Given the description of an element on the screen output the (x, y) to click on. 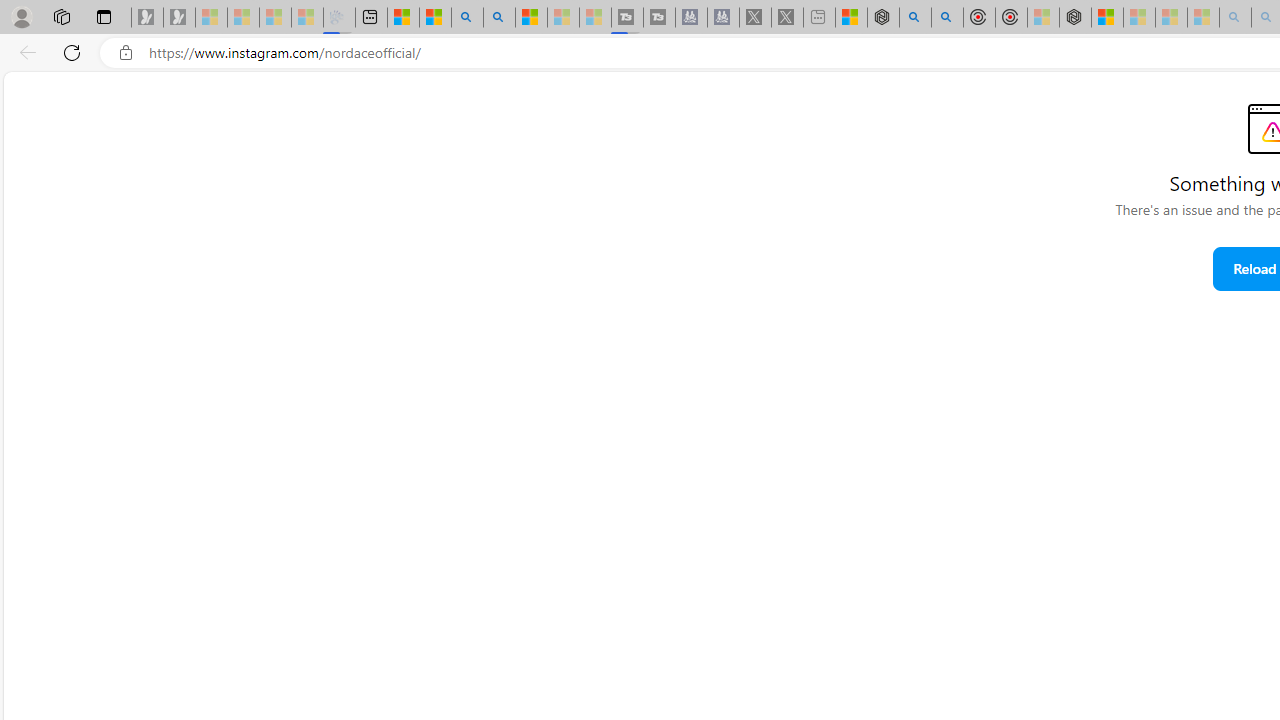
poe ++ standard - Search (946, 17)
poe - Search (914, 17)
